Given the description of an element on the screen output the (x, y) to click on. 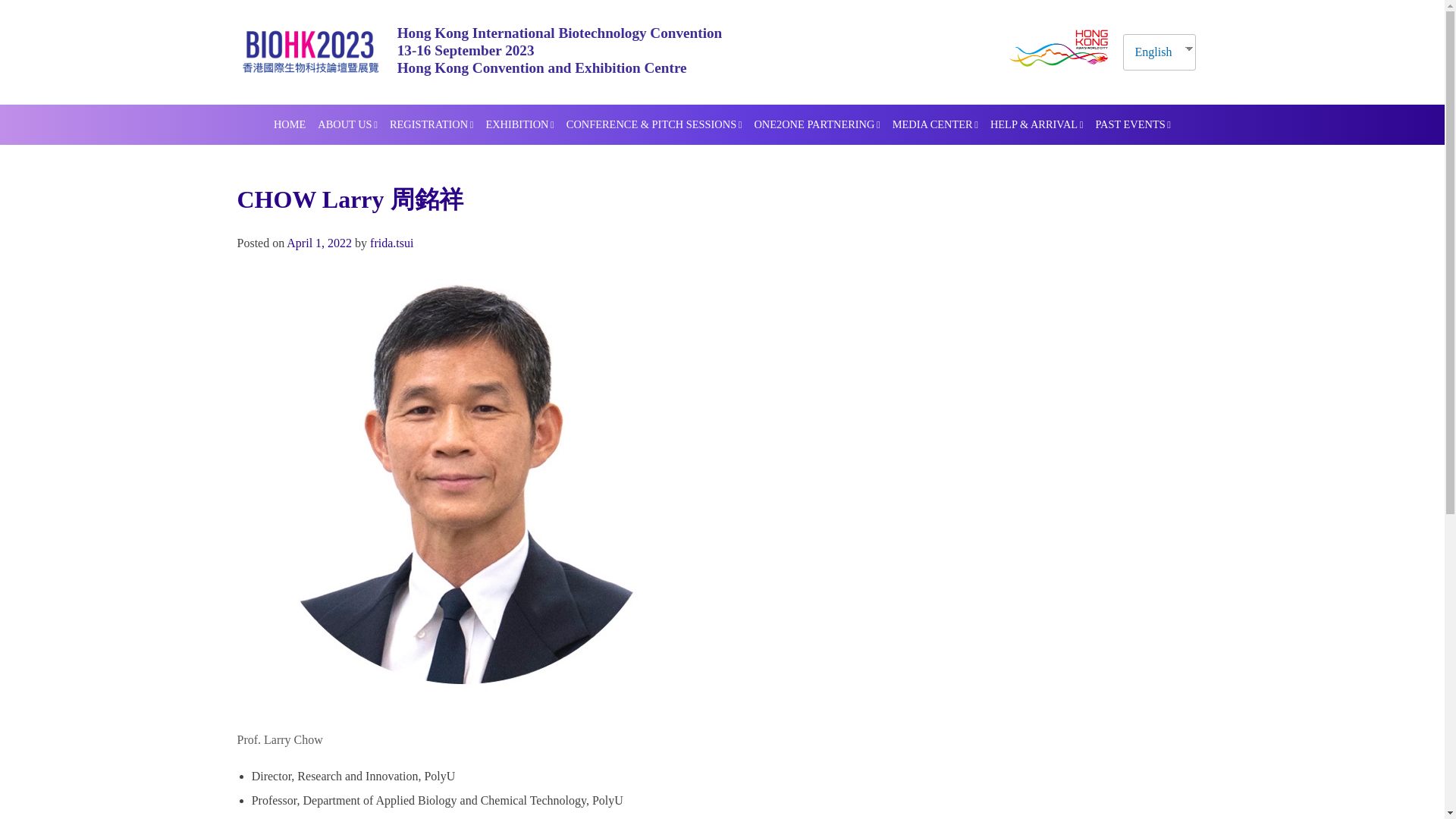
EXHIBITION (519, 124)
English (1152, 51)
MEDIA CENTER (935, 124)
HOME (289, 124)
English (1152, 51)
ABOUT US (347, 124)
REGISTRATION (431, 124)
ONE2ONE PARTNERING (816, 124)
